Given the description of an element on the screen output the (x, y) to click on. 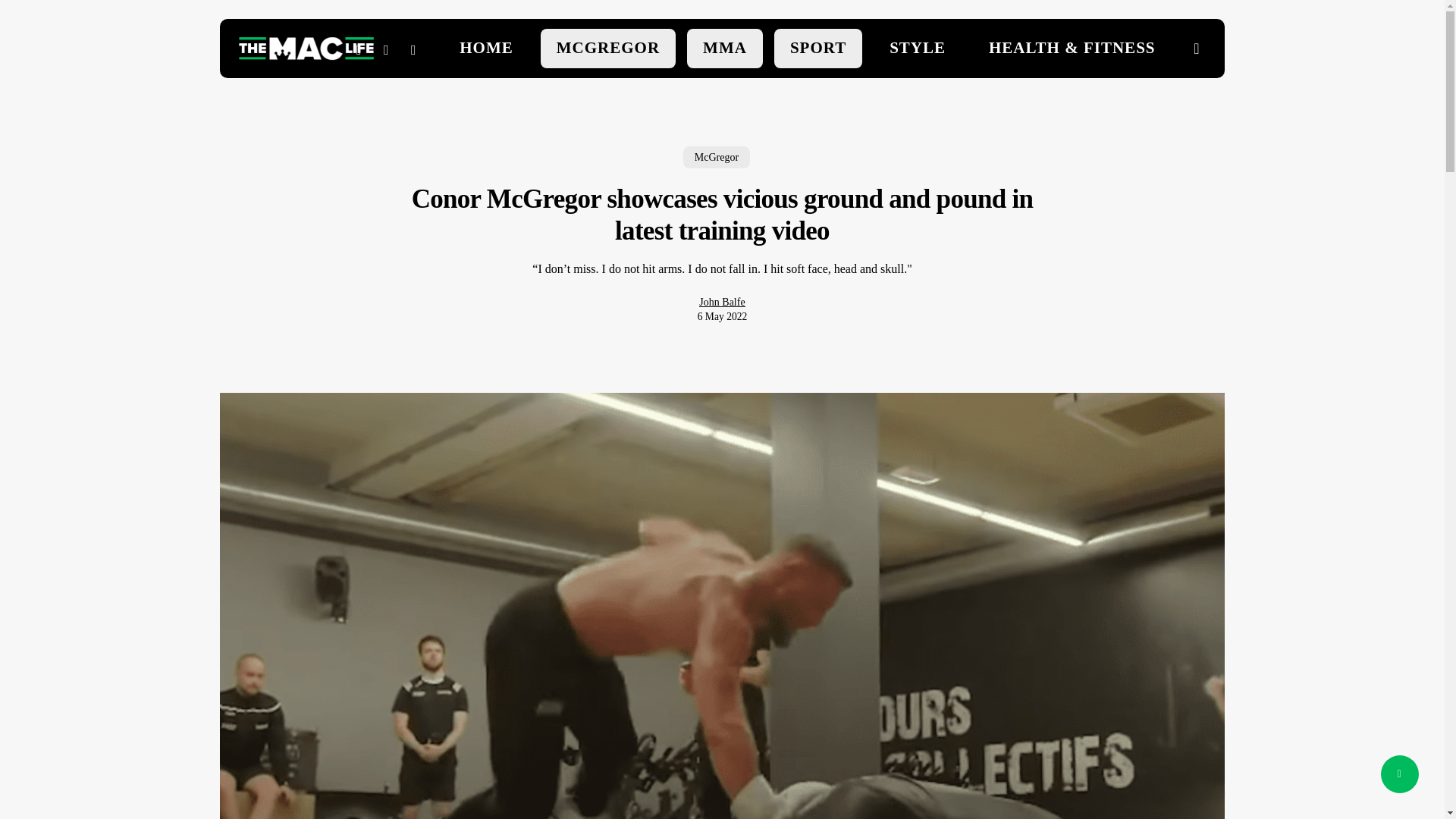
X-TWITTER (359, 48)
John Balfe (721, 301)
MMA (724, 48)
SPORT (817, 48)
Posts by John Balfe (721, 301)
HOME (486, 48)
MCGREGOR (607, 48)
STYLE (916, 48)
search (1196, 48)
YOUTUBE (386, 48)
